Given the description of an element on the screen output the (x, y) to click on. 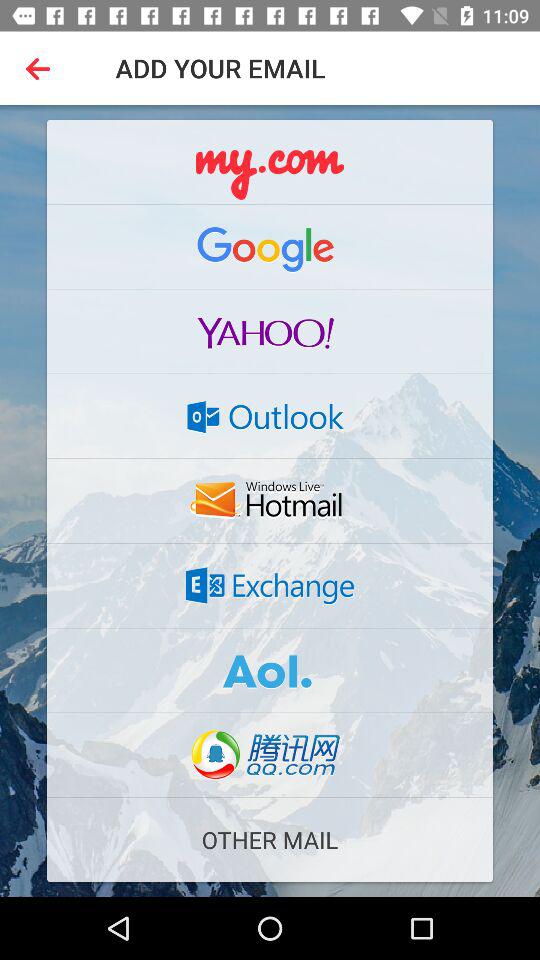
share the article (269, 585)
